Given the description of an element on the screen output the (x, y) to click on. 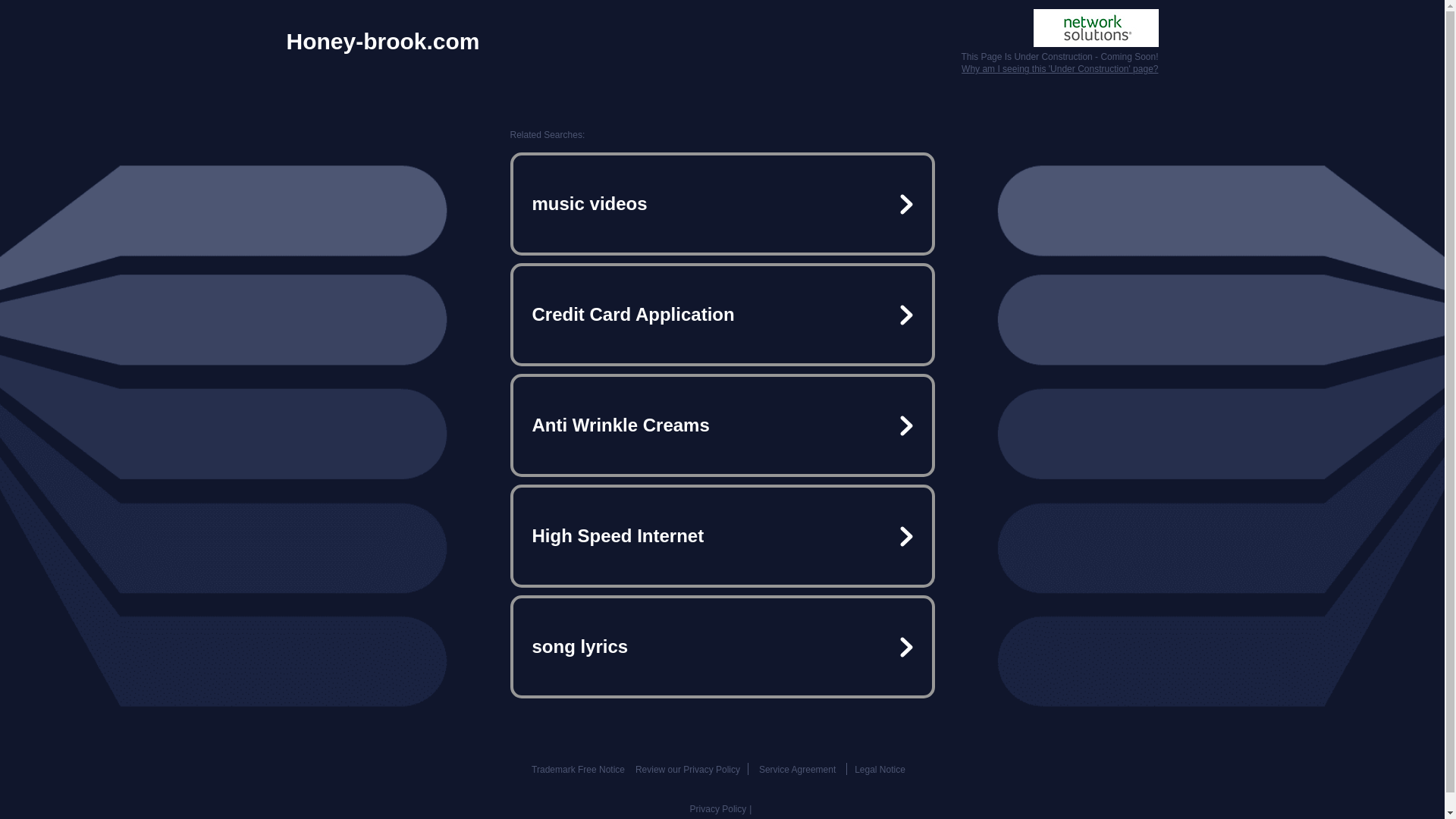
song lyrics (721, 646)
Legal Notice (879, 769)
song lyrics (721, 646)
Trademark Free Notice (577, 769)
Anti Wrinkle Creams (721, 425)
High Speed Internet (721, 535)
music videos (721, 203)
music videos (721, 203)
Why am I seeing this 'Under Construction' page? (1058, 68)
Credit Card Application (721, 314)
